Given the description of an element on the screen output the (x, y) to click on. 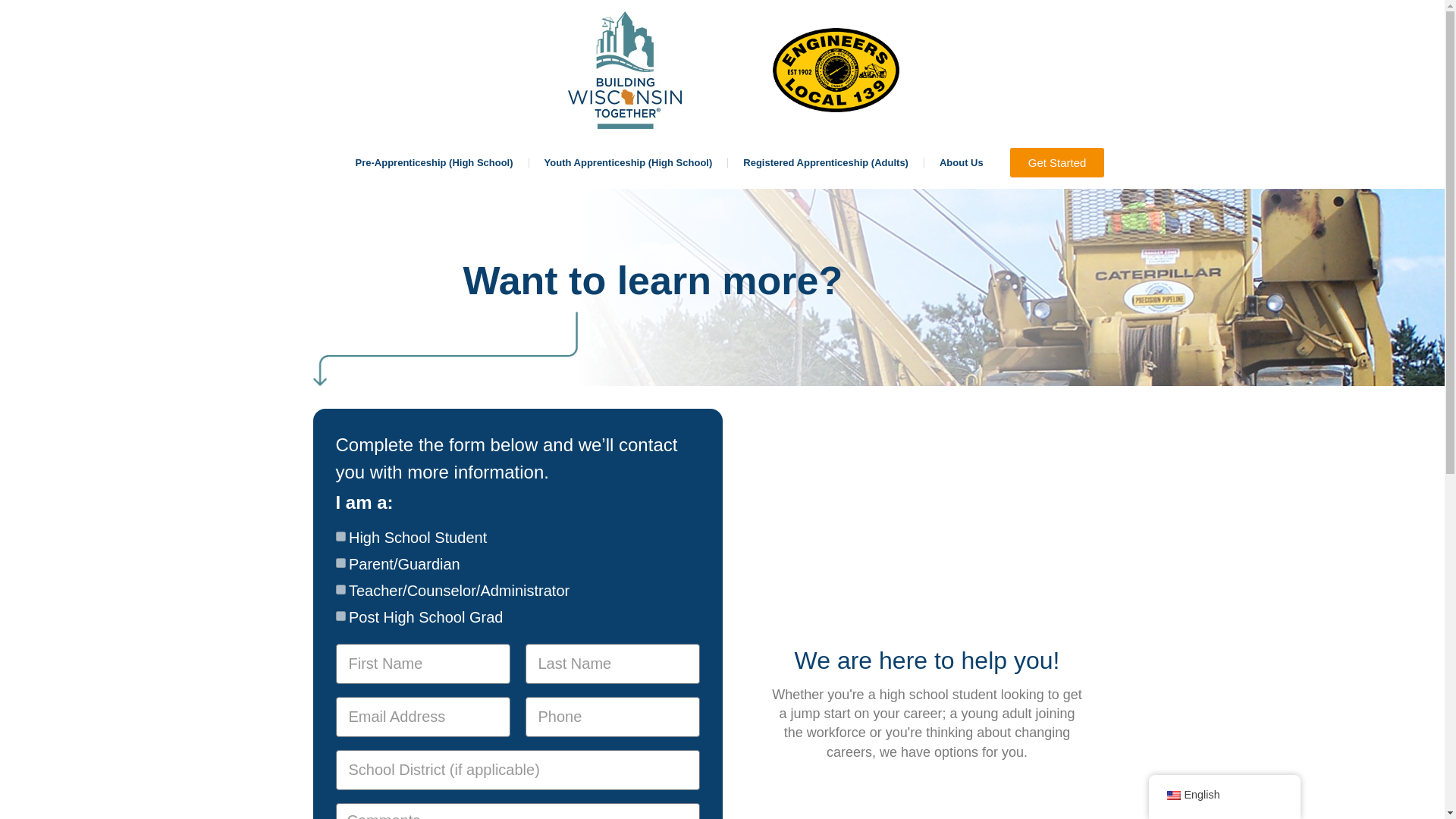
Post High School Grad (339, 615)
About Us (961, 163)
Get Started (1057, 162)
High School Student (339, 536)
English (1172, 795)
About Building Wisconsin Together (961, 163)
